Given the description of an element on the screen output the (x, y) to click on. 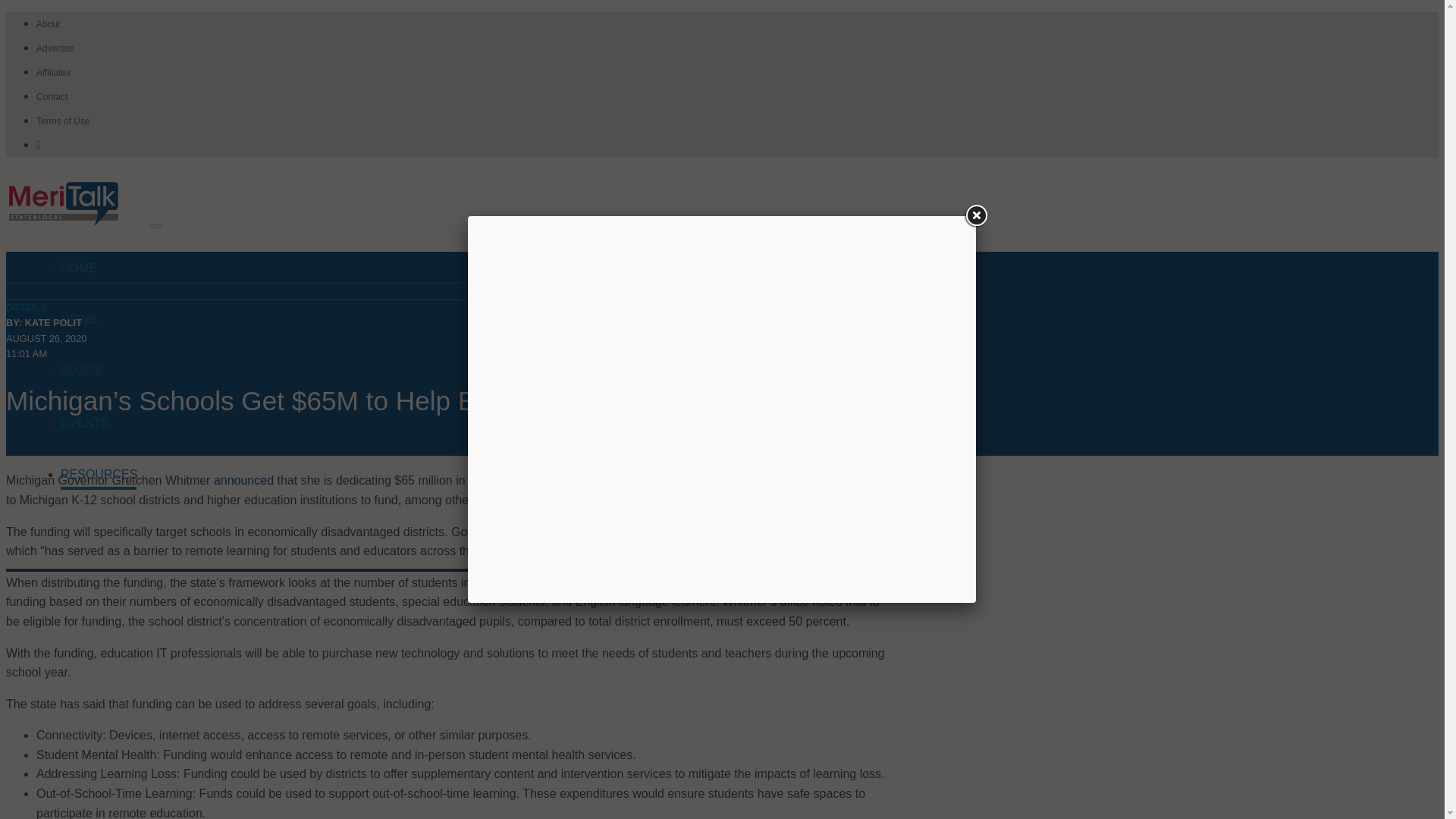
Terms of Use (63, 121)
Advertise (55, 48)
EVENTS (98, 424)
Affiliates (52, 72)
Close (976, 216)
NEWS (98, 320)
Resources (98, 475)
Home (98, 269)
Events (98, 424)
Blogs (98, 372)
News (98, 320)
BLOGS (98, 372)
Contact (51, 96)
About (47, 23)
